Given the description of an element on the screen output the (x, y) to click on. 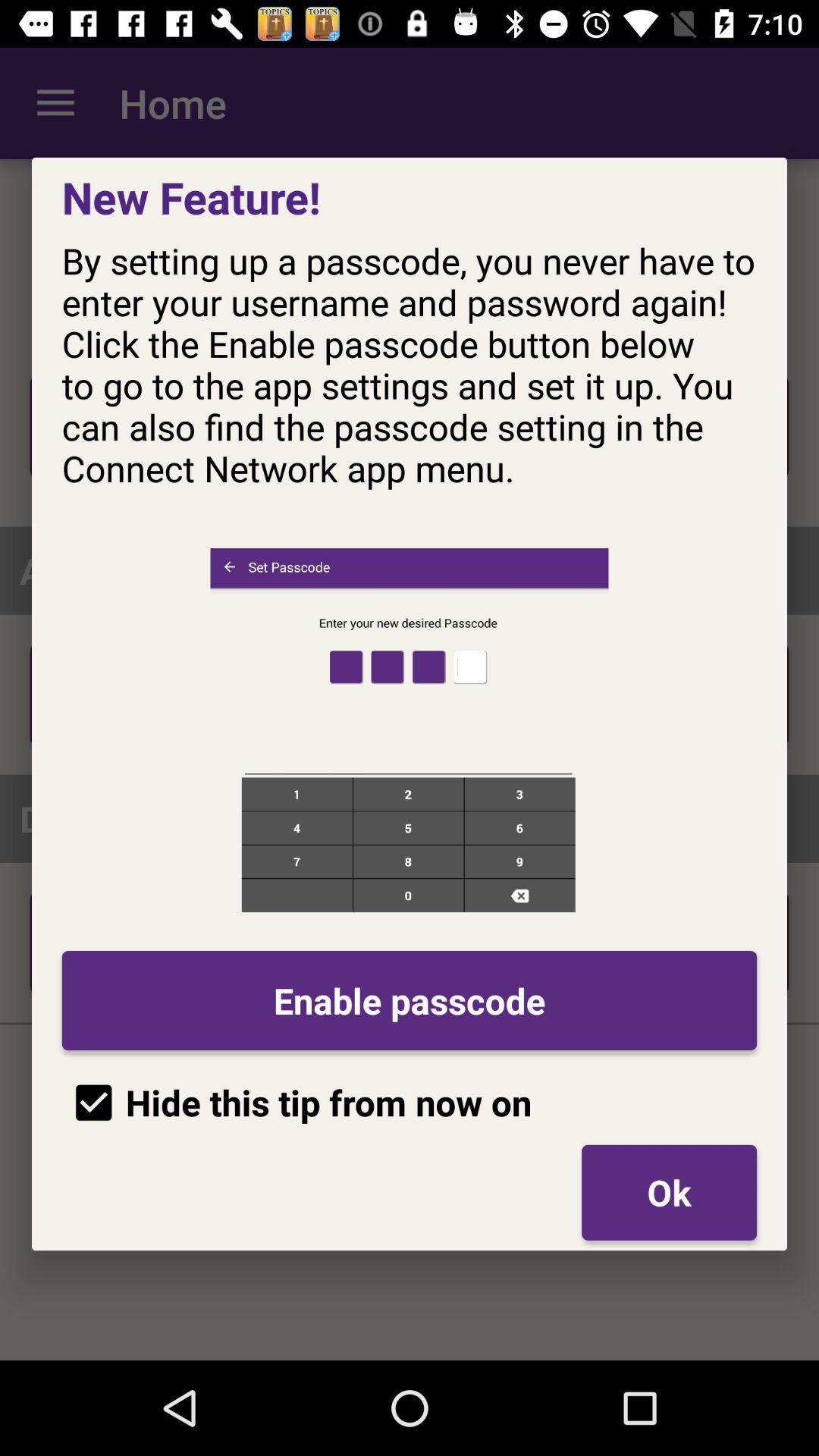
click icon below enable passcode (296, 1102)
